Given the description of an element on the screen output the (x, y) to click on. 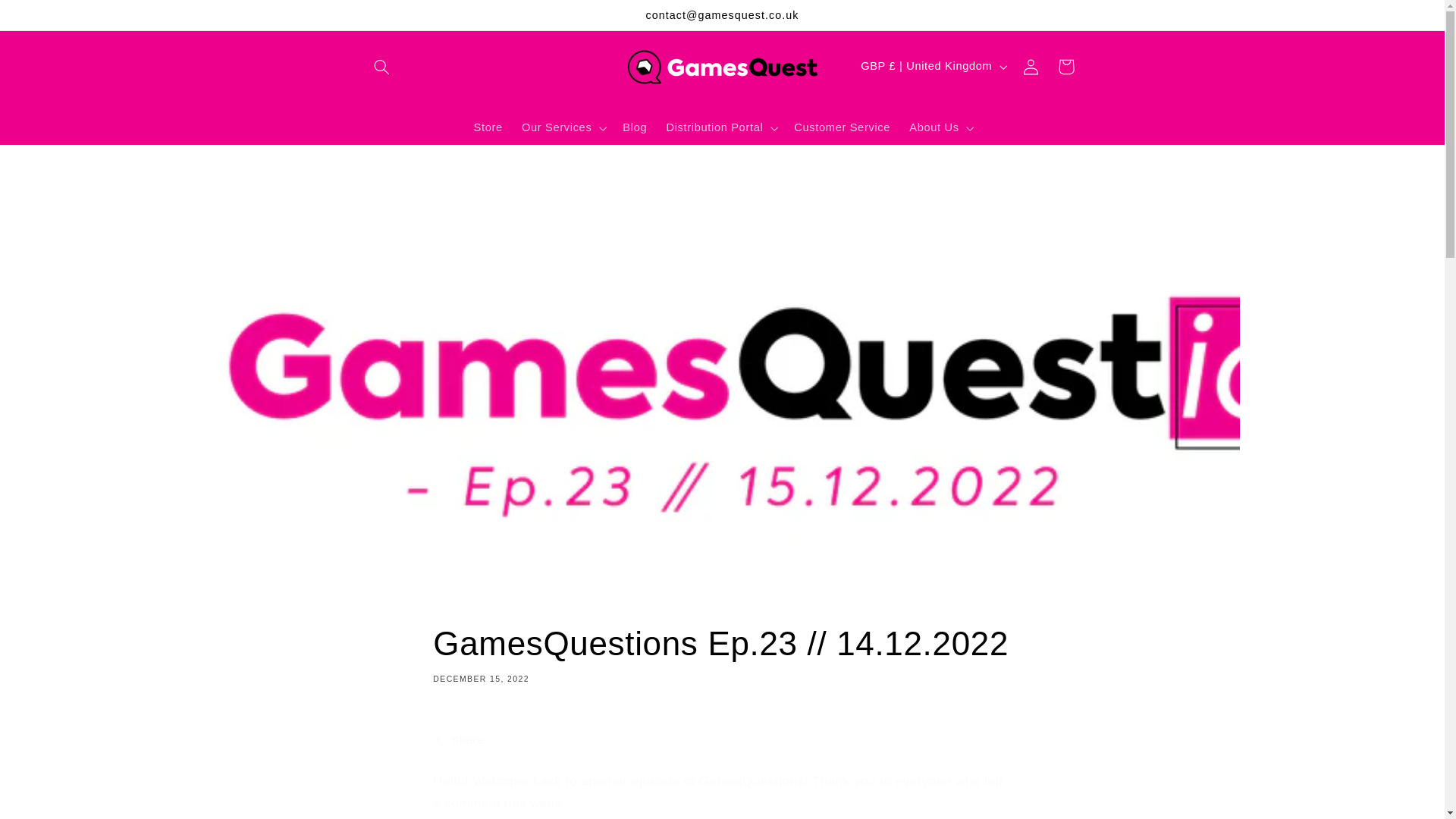
Store (488, 127)
Share (721, 740)
Customer Service (841, 127)
Skip to content (48, 18)
Blog (634, 127)
